Given the description of an element on the screen output the (x, y) to click on. 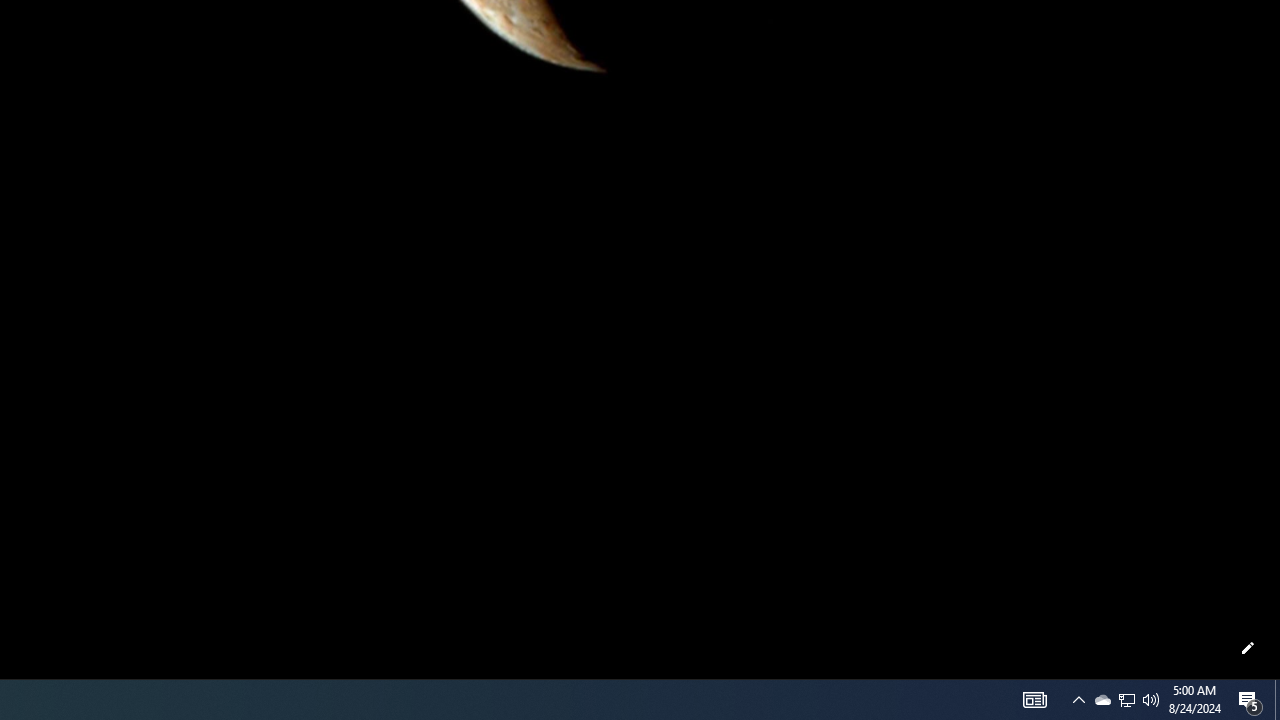
Customize this page (1247, 647)
